Given the description of an element on the screen output the (x, y) to click on. 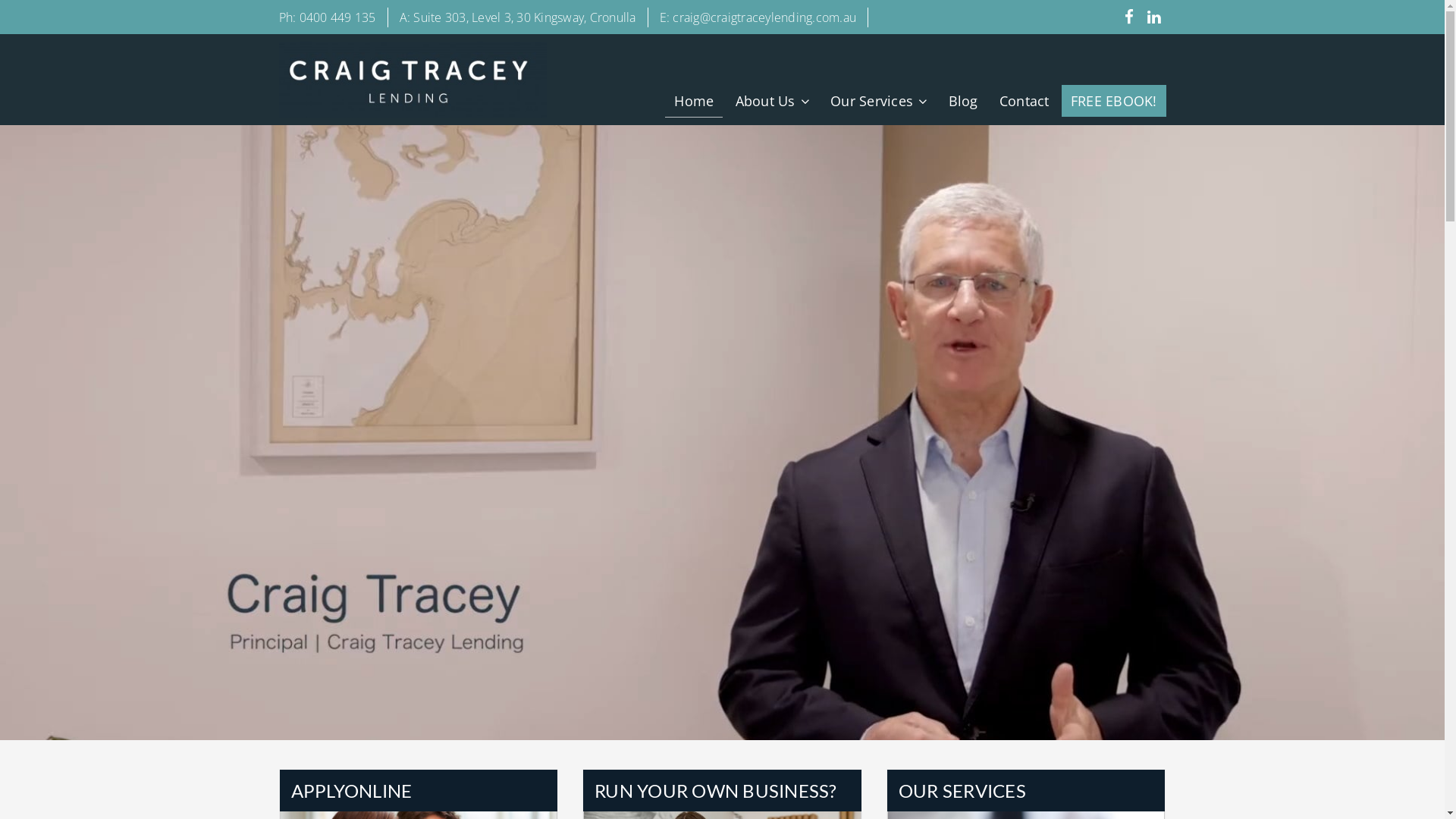
ApplyOnline Element type: text (895, 133)
Who we are Element type: text (800, 133)
Join us on Linked-In Element type: hover (1154, 18)
About Us Element type: text (772, 100)
Contact Element type: text (1024, 100)
Like us on Facebook Element type: hover (1128, 18)
Blog Element type: text (962, 100)
Home Element type: text (693, 100)
Back to Craig Tracey Lending homepage  Element type: hover (413, 77)
E: craig@craigtraceylending.com.au Element type: text (757, 17)
Ph: 0400 449 135 Element type: text (327, 17)
Our Services Element type: text (878, 100)
FREE EBOOK! Element type: text (1113, 100)
